Given the description of an element on the screen output the (x, y) to click on. 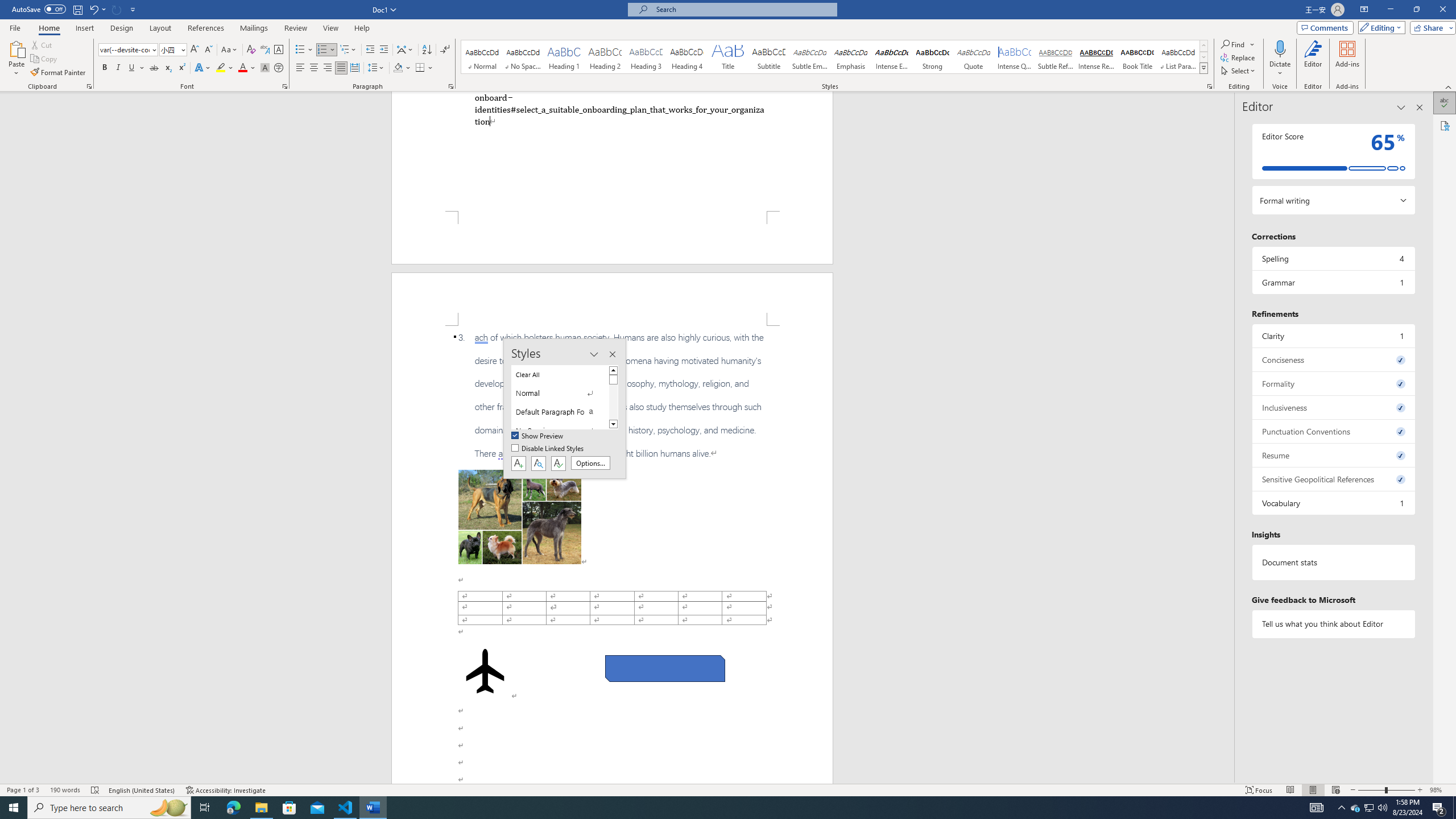
Layout (160, 28)
Editing (1379, 27)
